Given the description of an element on the screen output the (x, y) to click on. 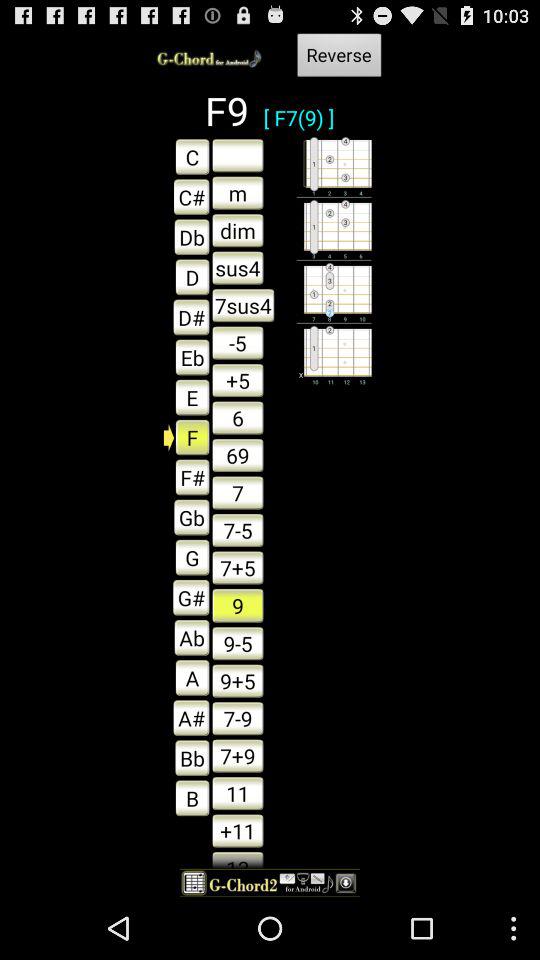
swipe to the db (186, 236)
